Given the description of an element on the screen output the (x, y) to click on. 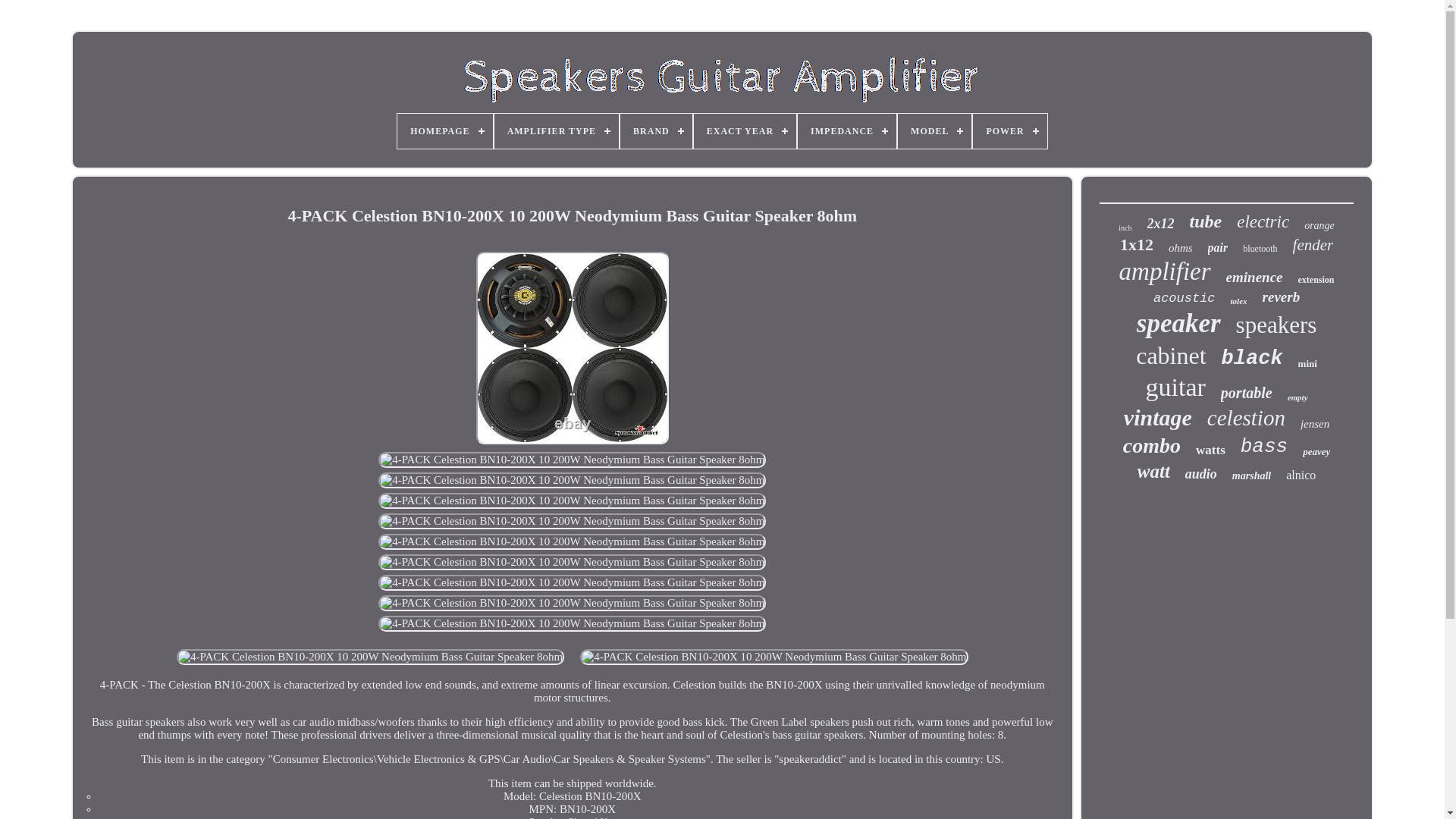
HOMEPAGE (444, 130)
BRAND (656, 130)
